Given the description of an element on the screen output the (x, y) to click on. 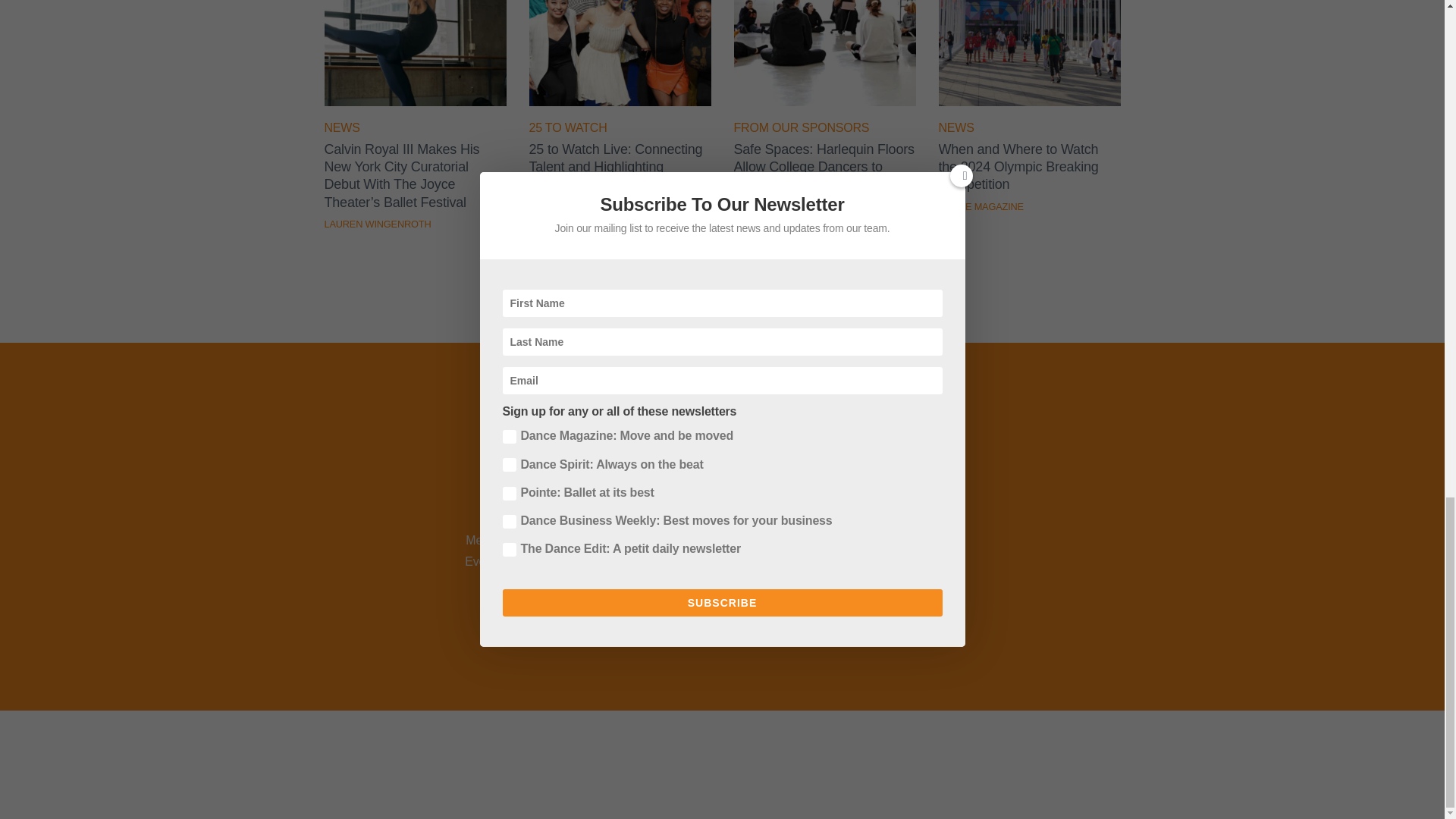
Follow on Instagram (702, 487)
Follow on Pinterest (820, 487)
Follow on LinkedIn (780, 487)
Follow on Facebook (623, 487)
Follow on Youtube (741, 487)
Follow on Twitter (662, 487)
